Given the description of an element on the screen output the (x, y) to click on. 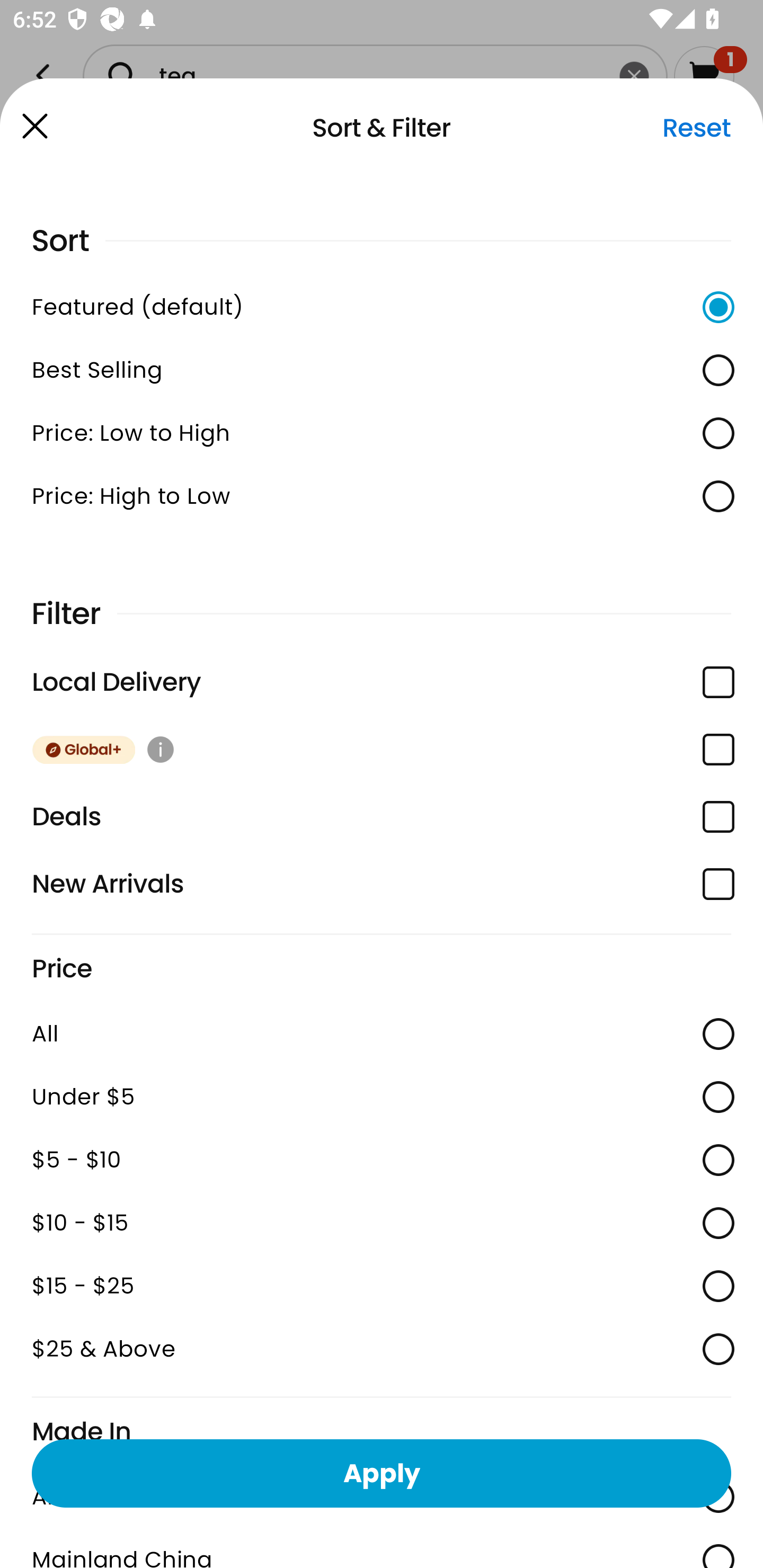
Reset (696, 127)
Apply (381, 1472)
